Given the description of an element on the screen output the (x, y) to click on. 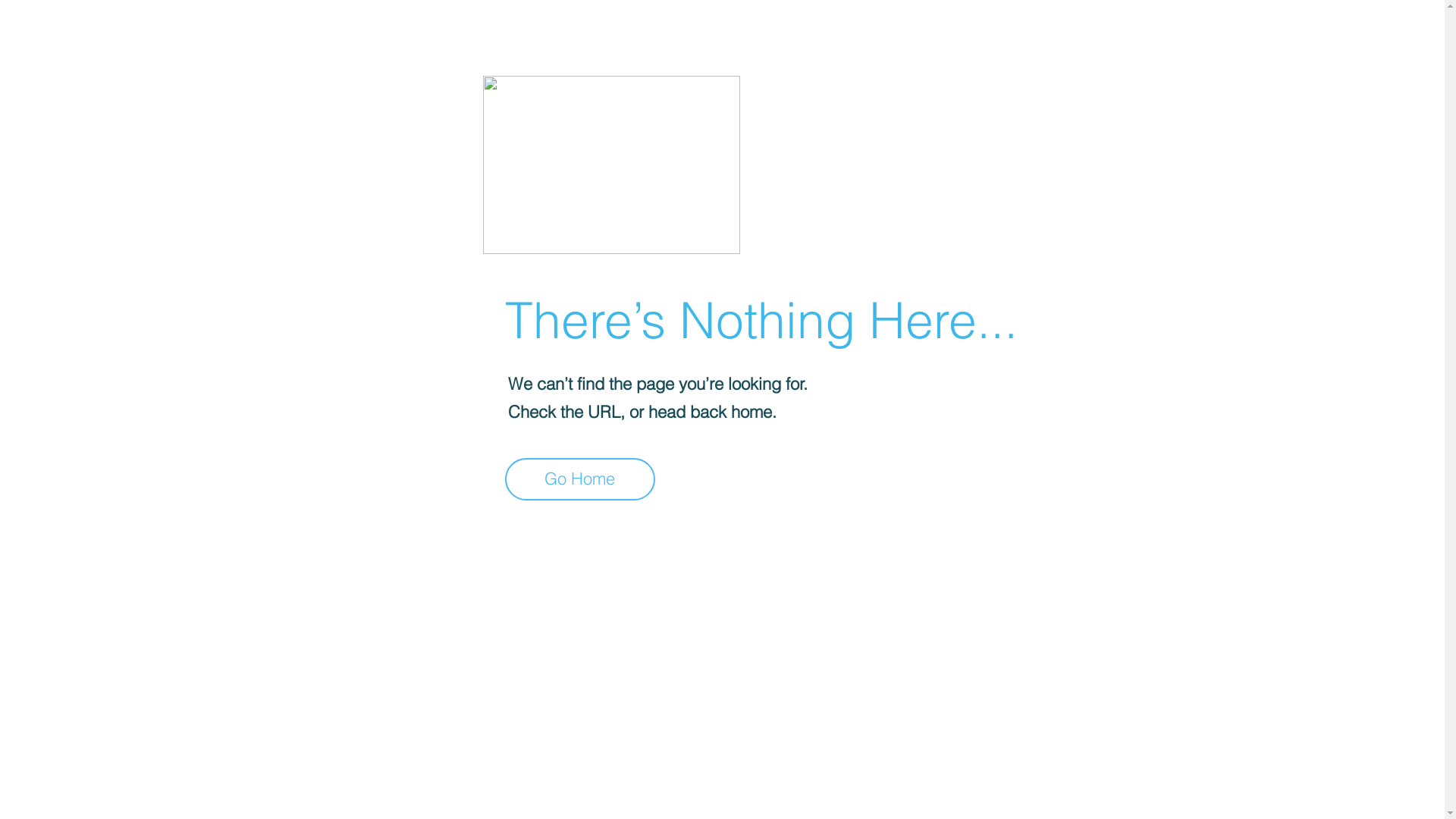
404-icon_2.png Element type: hover (610, 164)
Go Home Element type: text (580, 479)
